Given the description of an element on the screen output the (x, y) to click on. 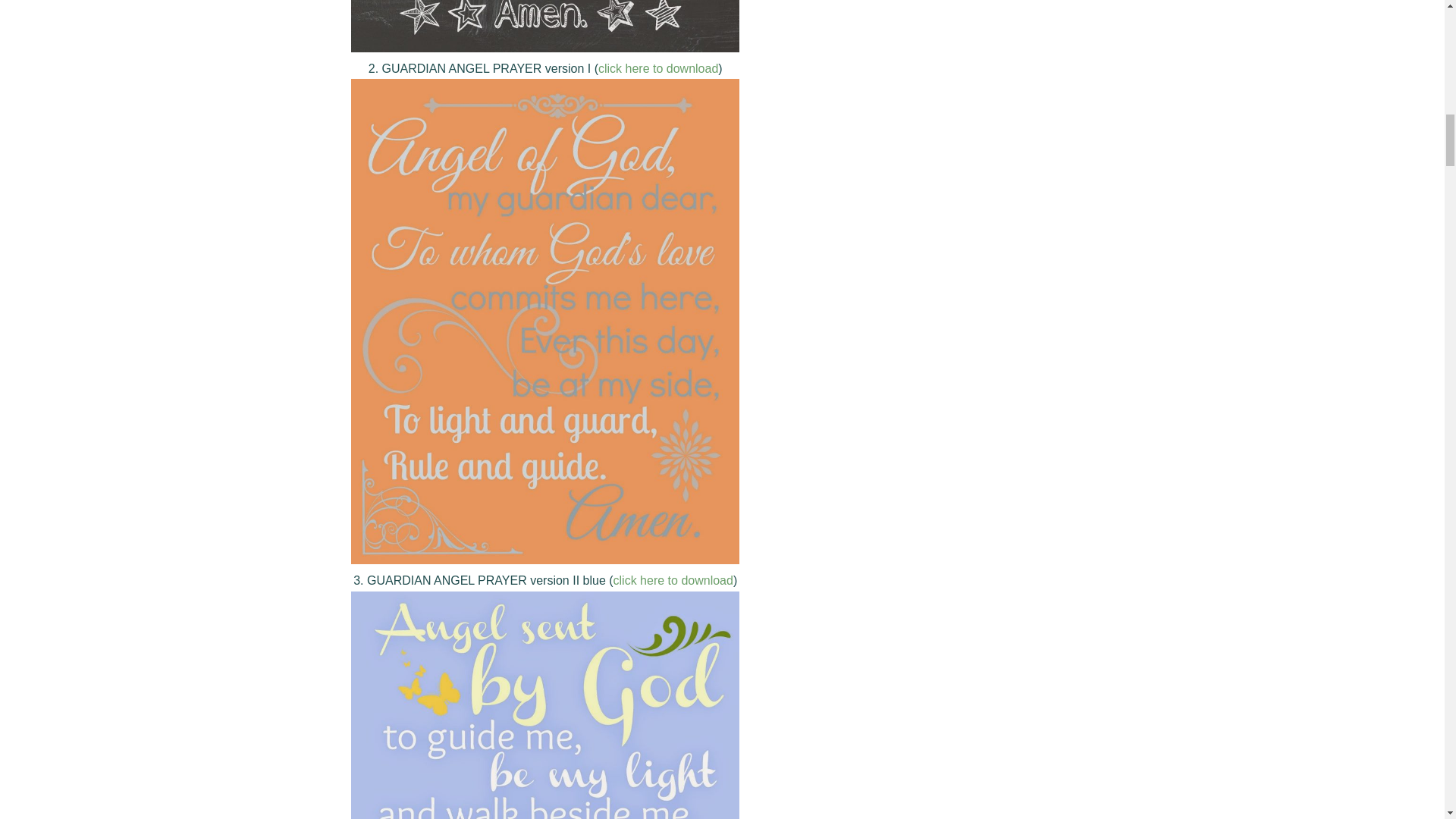
click here to download (657, 68)
click here to download (672, 580)
